Given the description of an element on the screen output the (x, y) to click on. 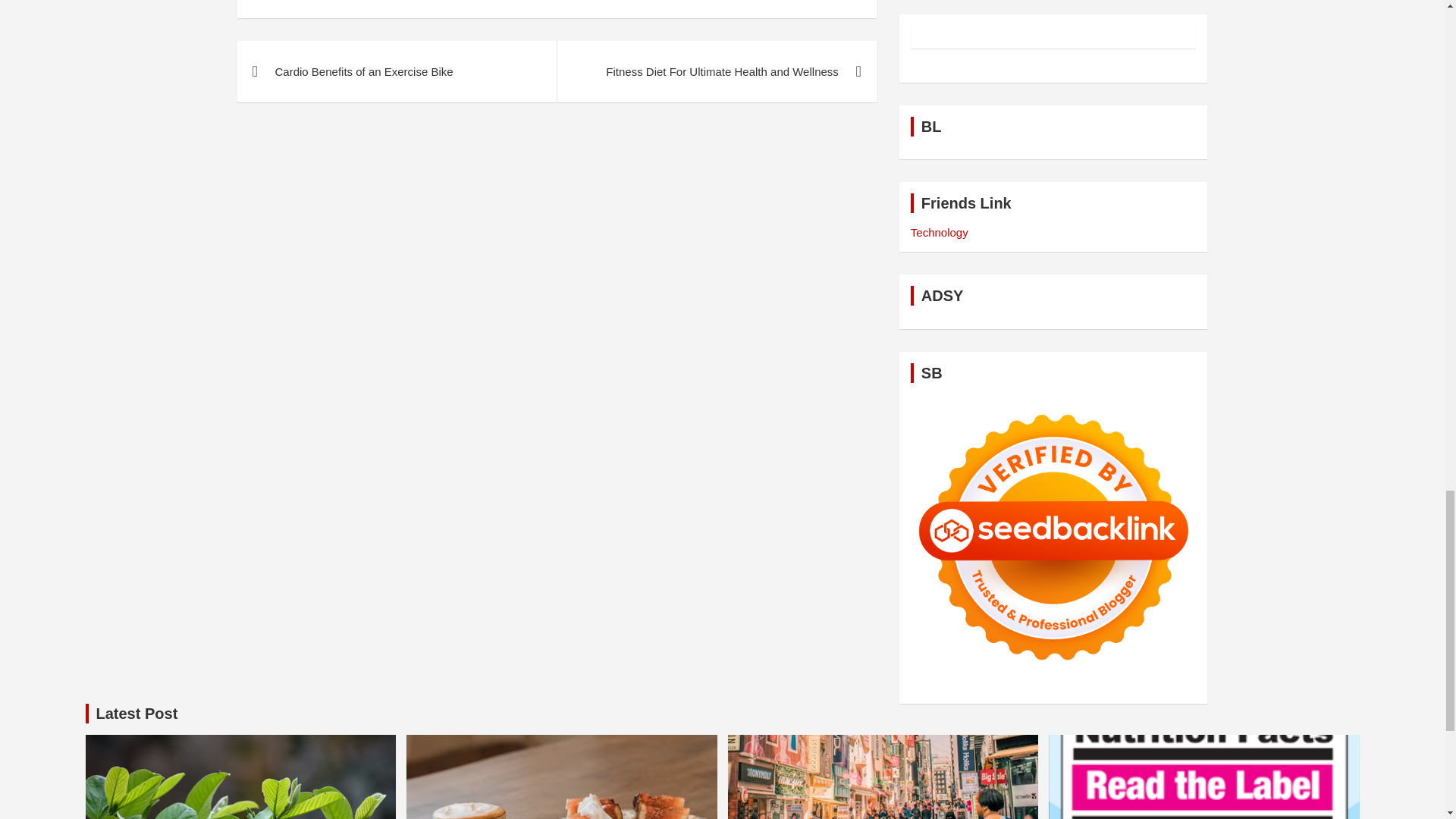
Fitness Diet For Ultimate Health and Wellness (716, 71)
Seedbacklink (1053, 536)
Cardio Benefits of an Exercise Bike (395, 71)
